Given the description of an element on the screen output the (x, y) to click on. 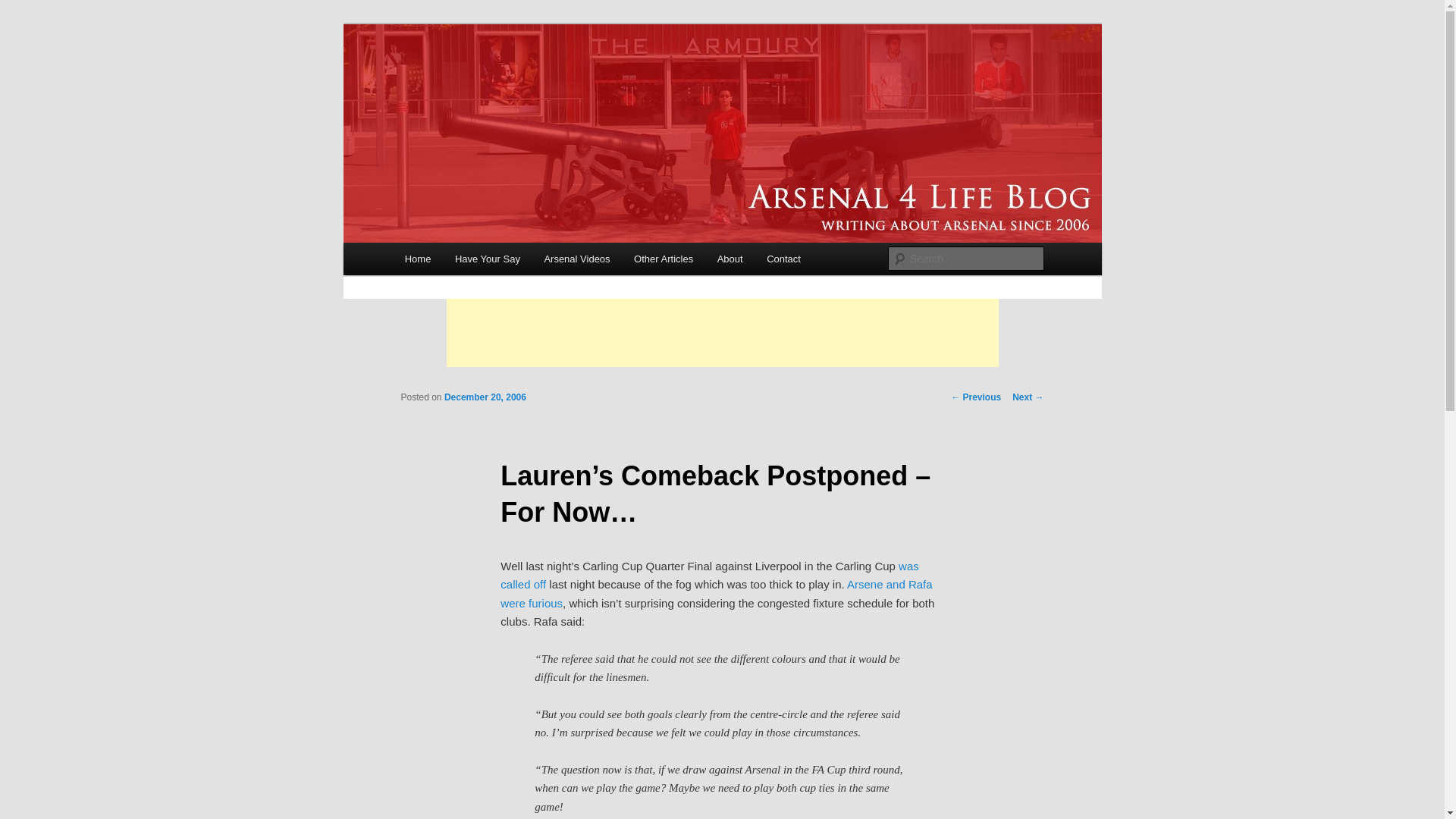
December 20, 2006 (484, 397)
Other Articles (662, 258)
Arsene and Rafa were furious (715, 593)
was called off (709, 574)
Have Your Say (487, 258)
Home (417, 258)
Arsenal Videos (577, 258)
Search (24, 8)
Advertisement (721, 332)
